Given the description of an element on the screen output the (x, y) to click on. 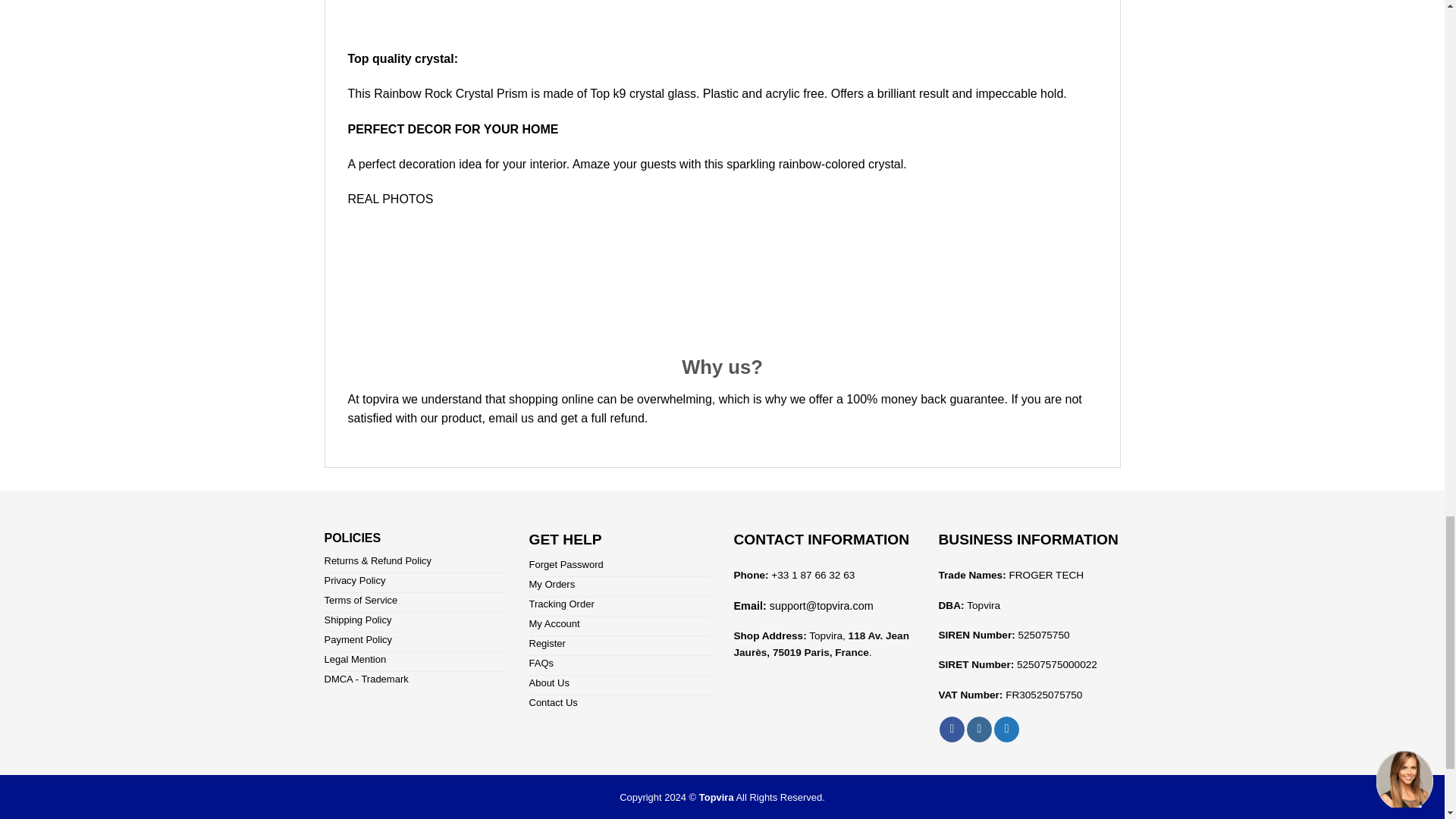
Rainbow rock crystal prism 15 (721, 282)
Rainbow rock crystal prism 14 (721, 16)
Follow on Facebook (951, 729)
